Given the description of an element on the screen output the (x, y) to click on. 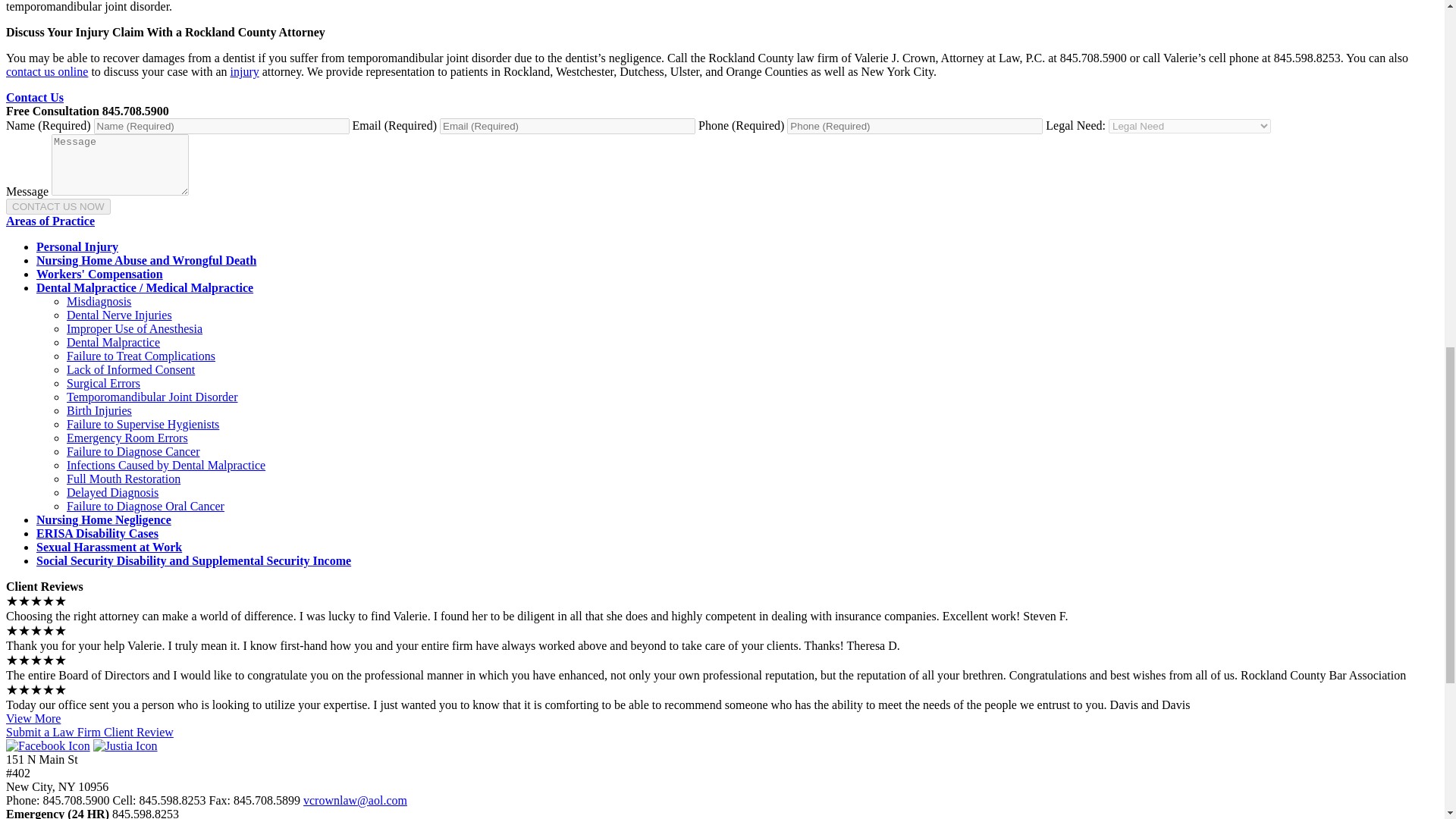
Birth Injuries (99, 410)
Failure to Diagnose Cancer (133, 451)
Emergency Room Errors (126, 437)
Lack of Informed Consent (130, 369)
Failure to Treat Complications (140, 355)
Facebook (47, 745)
Workers' Compensation (99, 273)
contact us online (46, 71)
Dental Malpractice (113, 341)
Misdiagnosis (98, 300)
